Given the description of an element on the screen output the (x, y) to click on. 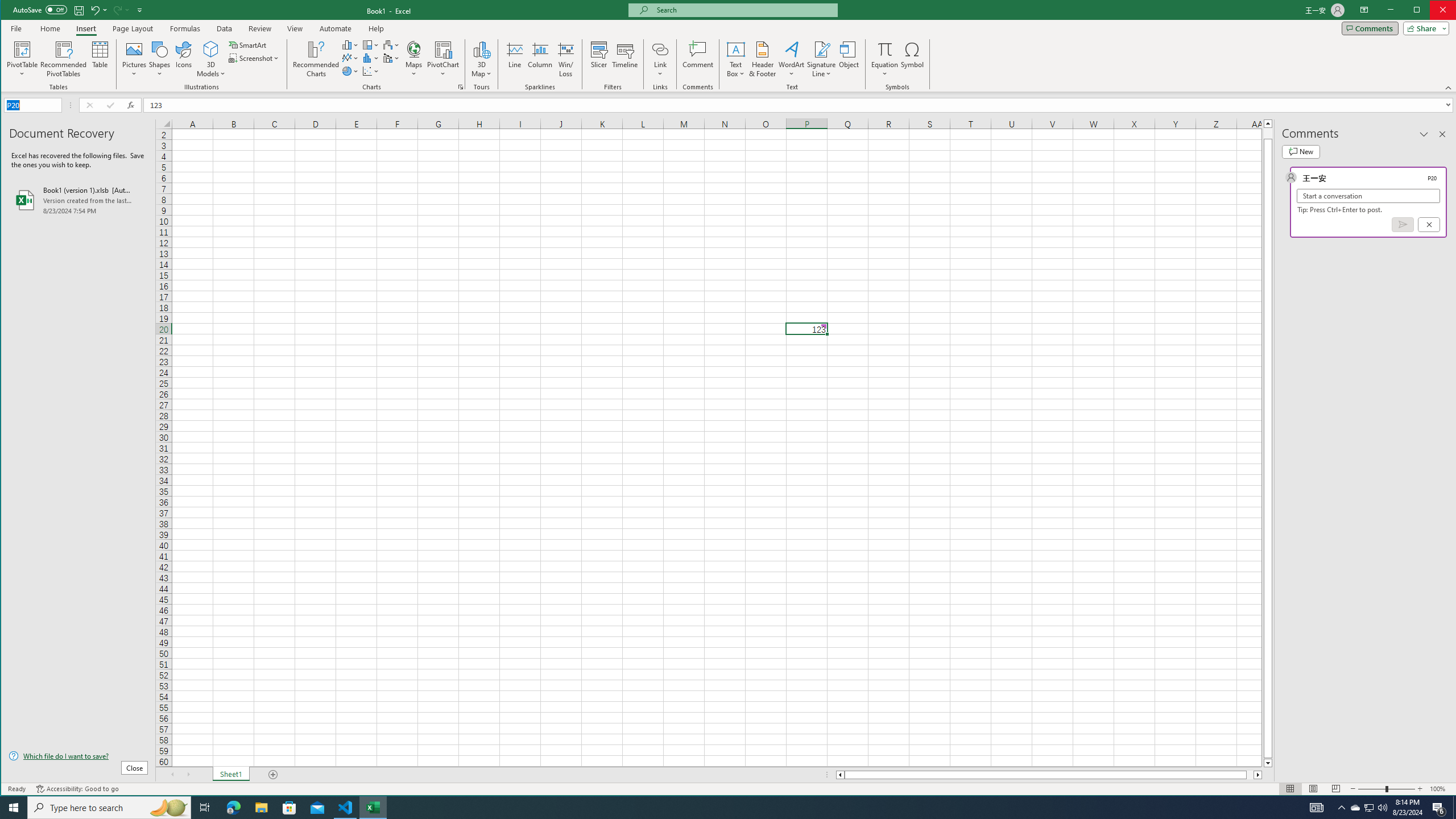
Header & Footer... (762, 59)
Cancel (1428, 224)
Text Box (735, 59)
Q2790: 100% (1382, 807)
Icons (183, 59)
PivotTable (22, 48)
Insert Line or Area Chart (350, 57)
Page up (1267, 132)
3D Models (211, 59)
Timeline (625, 59)
Task View (204, 807)
